Given the description of an element on the screen output the (x, y) to click on. 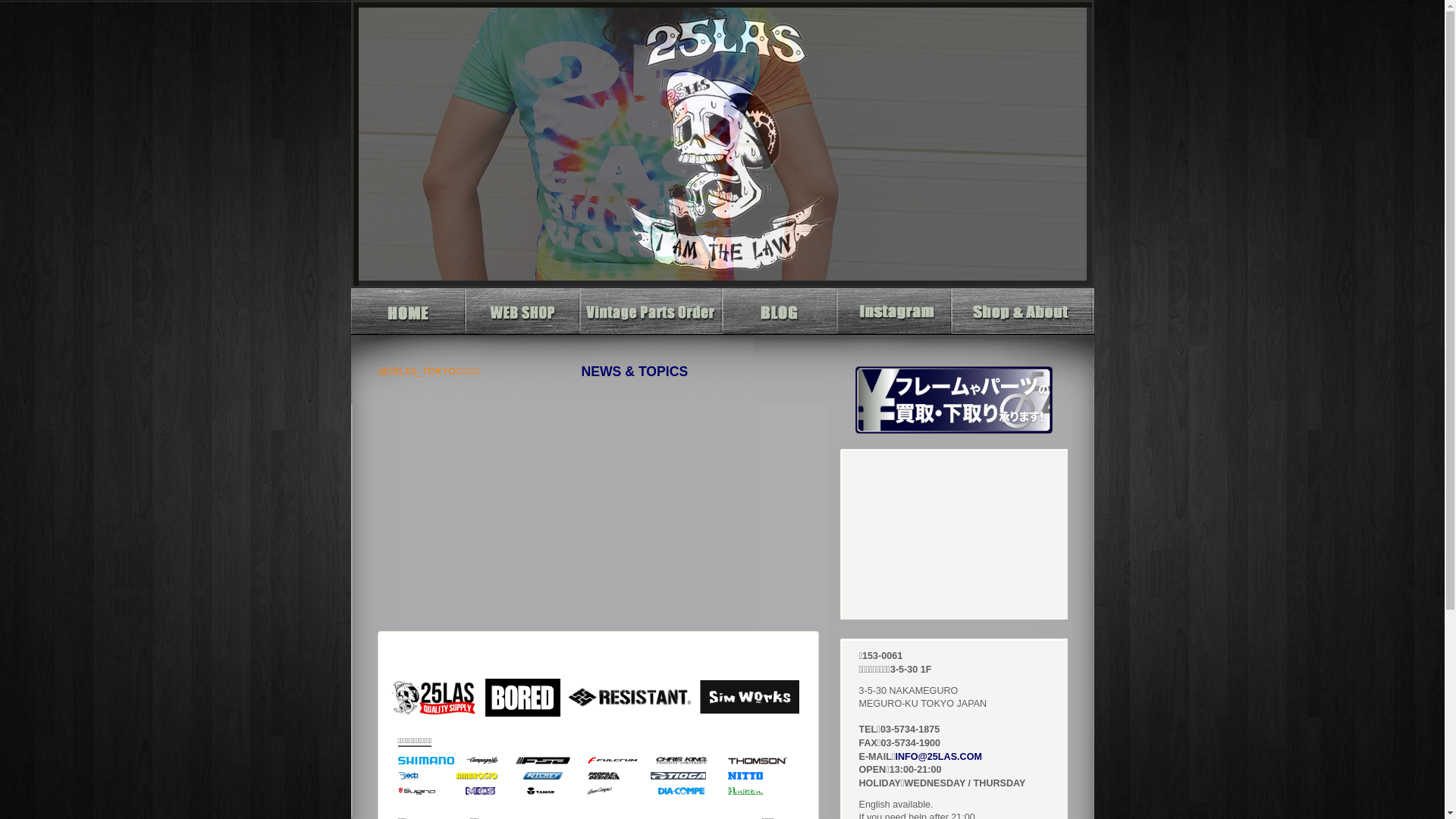
INFO@25LAS.COM Element type: text (937, 756)
